Given the description of an element on the screen output the (x, y) to click on. 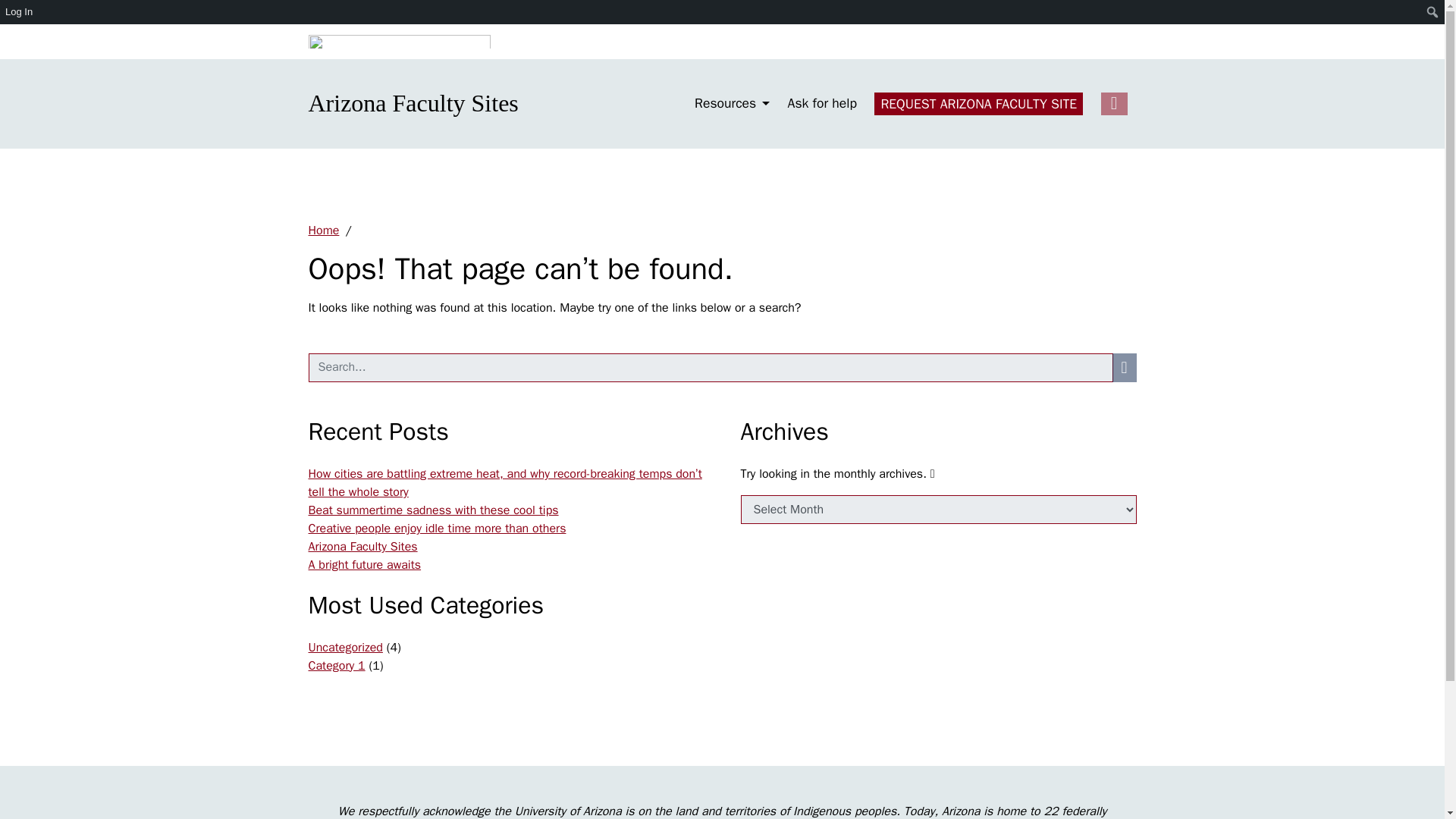
Log In (19, 12)
Resources (732, 103)
Ask for help (822, 103)
Request Arizona Faculty Site (979, 103)
TOGGLE SEARCH INTERFACE (1113, 103)
Resources (732, 103)
Creative people enjoy idle time more than others (436, 528)
Home (323, 230)
Beat summertime sadness with these cool tips (432, 509)
Arizona Faculty Sites (412, 103)
